Given the description of an element on the screen output the (x, y) to click on. 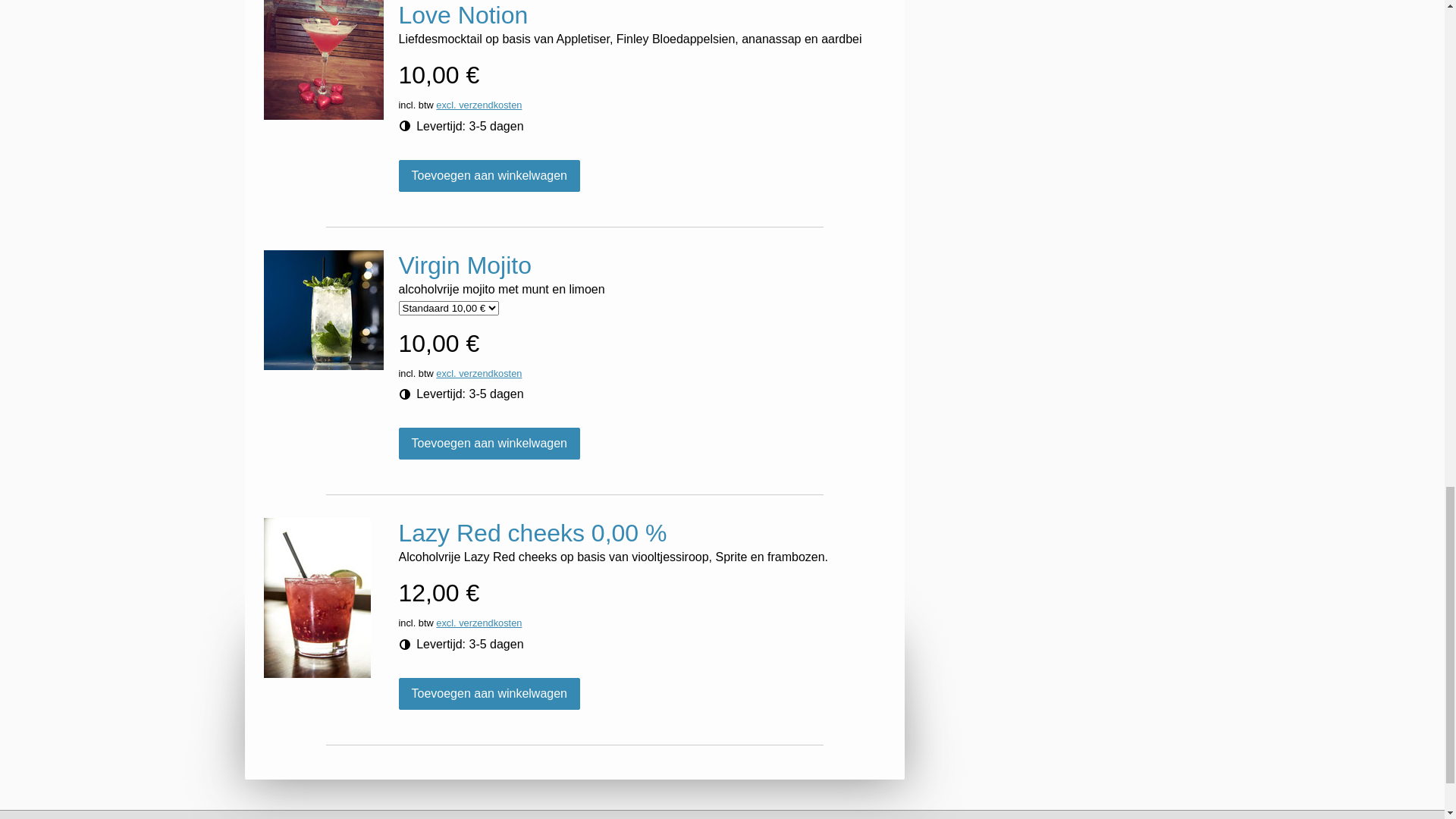
excl. verzendkosten Element type: text (478, 671)
excl. verzendkosten Element type: text (478, 420)
Toevoegen aan winkelwagen Element type: text (489, 492)
Home Element type: text (599, 18)
CAFE BIJ JO Element type: text (726, 155)
Contact Element type: text (1174, 18)
Mocktailpakketten Element type: text (1082, 18)
Mocktails 2 Go Element type: text (852, 18)
Cocktails 2 Go Element type: text (750, 18)
Cocktailpakketten Element type: text (963, 18)
Gift Shop Element type: text (662, 18)
Toevoegen aan winkelwagen Element type: text (489, 741)
